Given the description of an element on the screen output the (x, y) to click on. 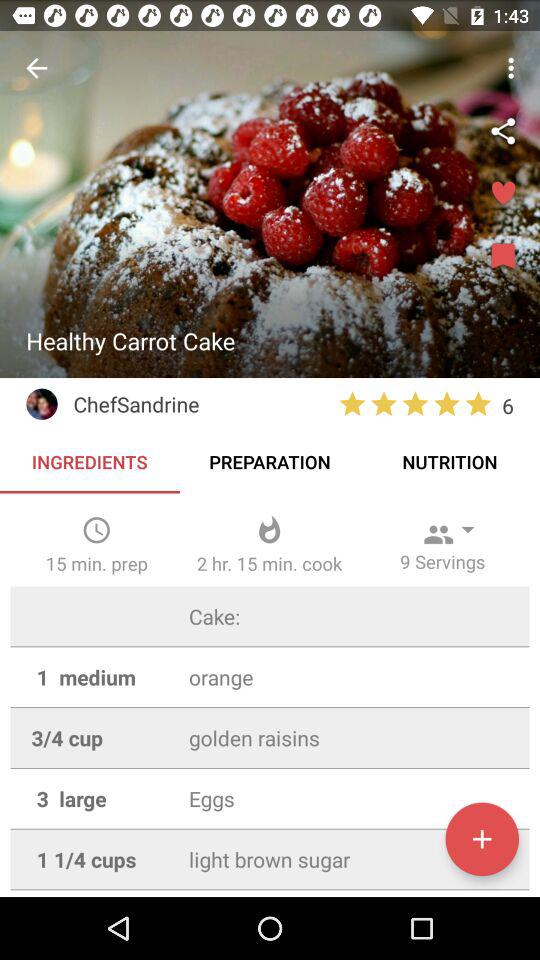
make favorite recipe (503, 194)
